Given the description of an element on the screen output the (x, y) to click on. 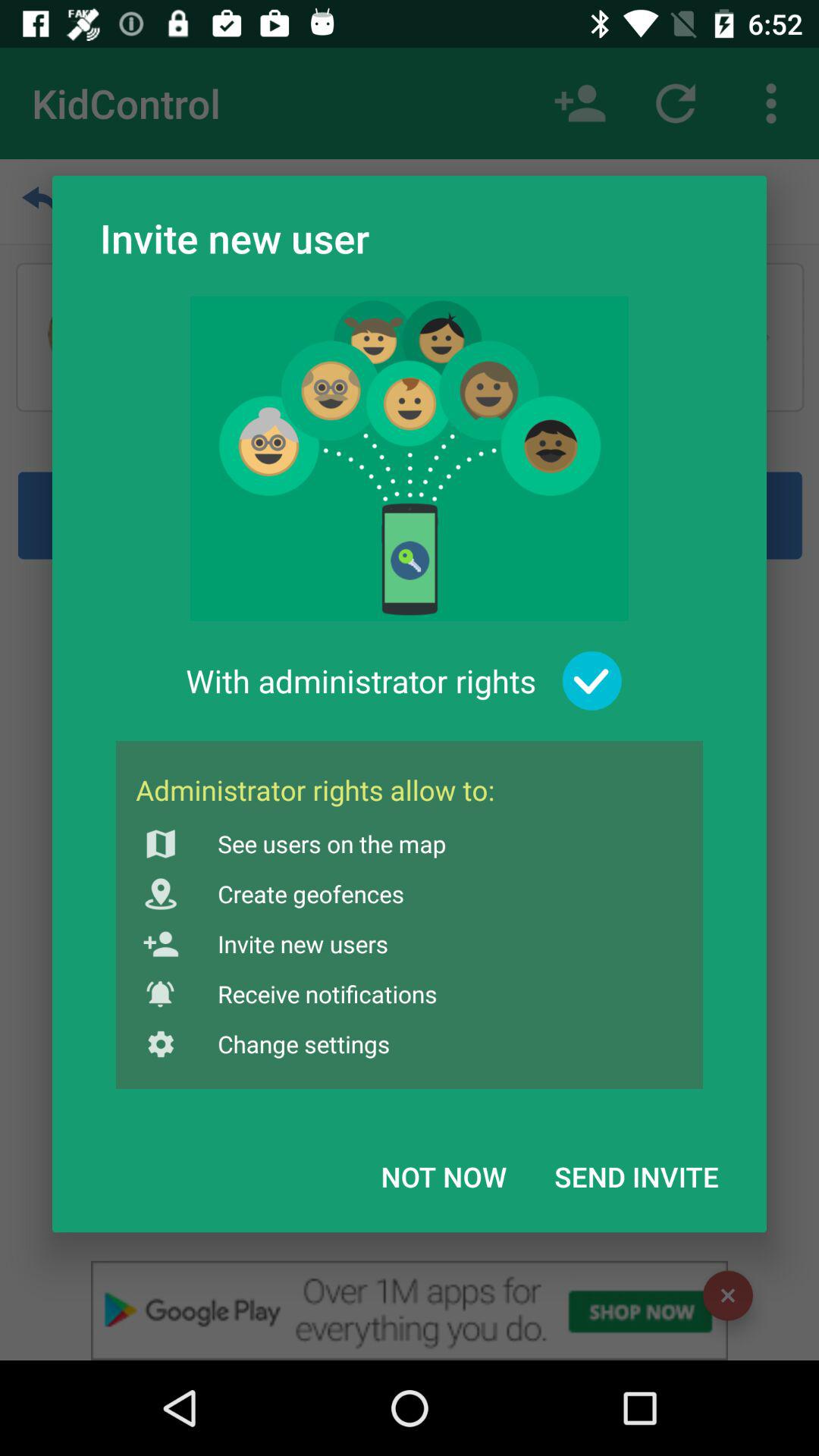
click item next to not now (636, 1176)
